Given the description of an element on the screen output the (x, y) to click on. 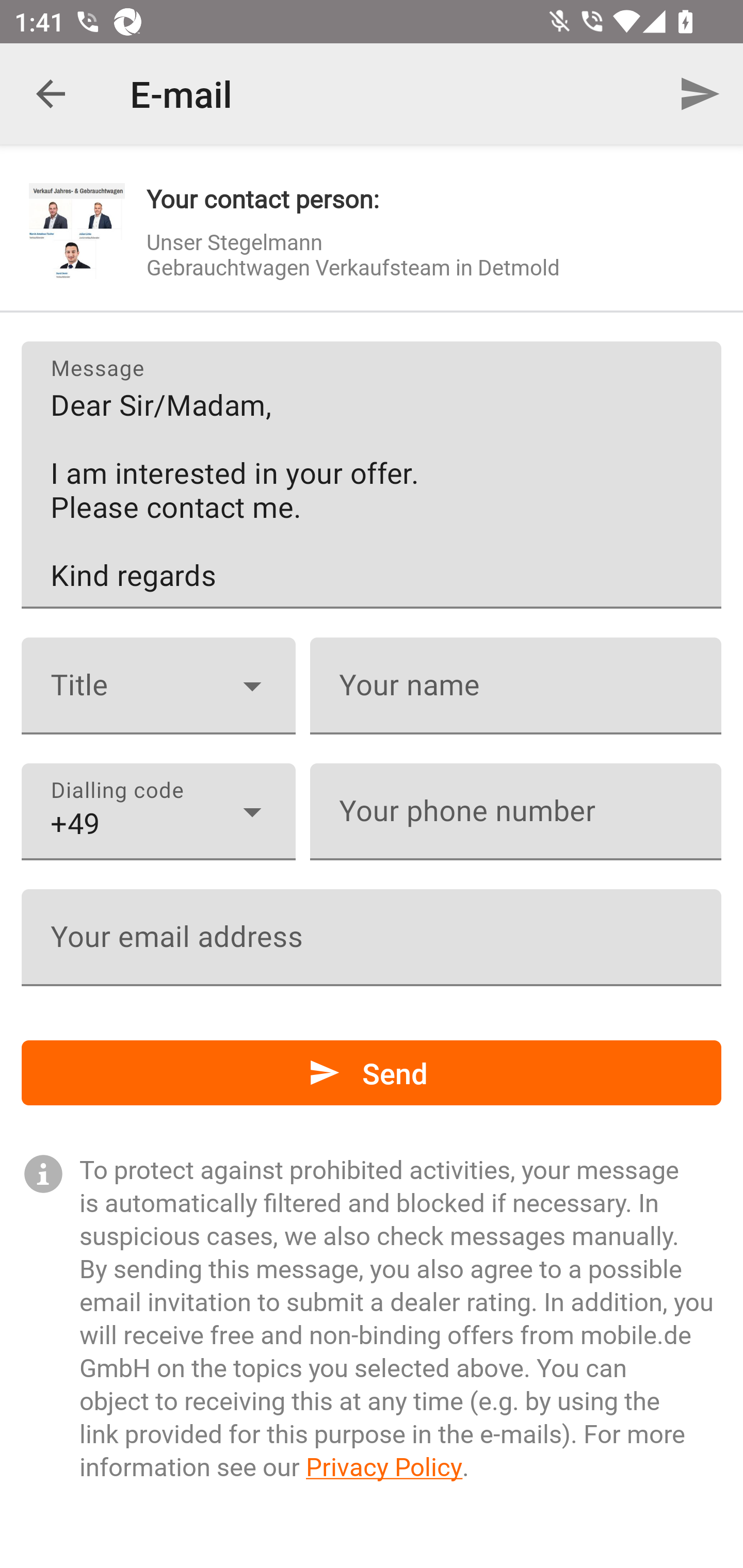
Navigate up (50, 93)
Send (699, 93)
Title (158, 685)
Your name (515, 685)
Show dropdown menu (251, 685)
+49 (158, 811)
Your phone number (515, 811)
Show dropdown menu (251, 811)
Your email address (371, 937)
Send (371, 1073)
